Given the description of an element on the screen output the (x, y) to click on. 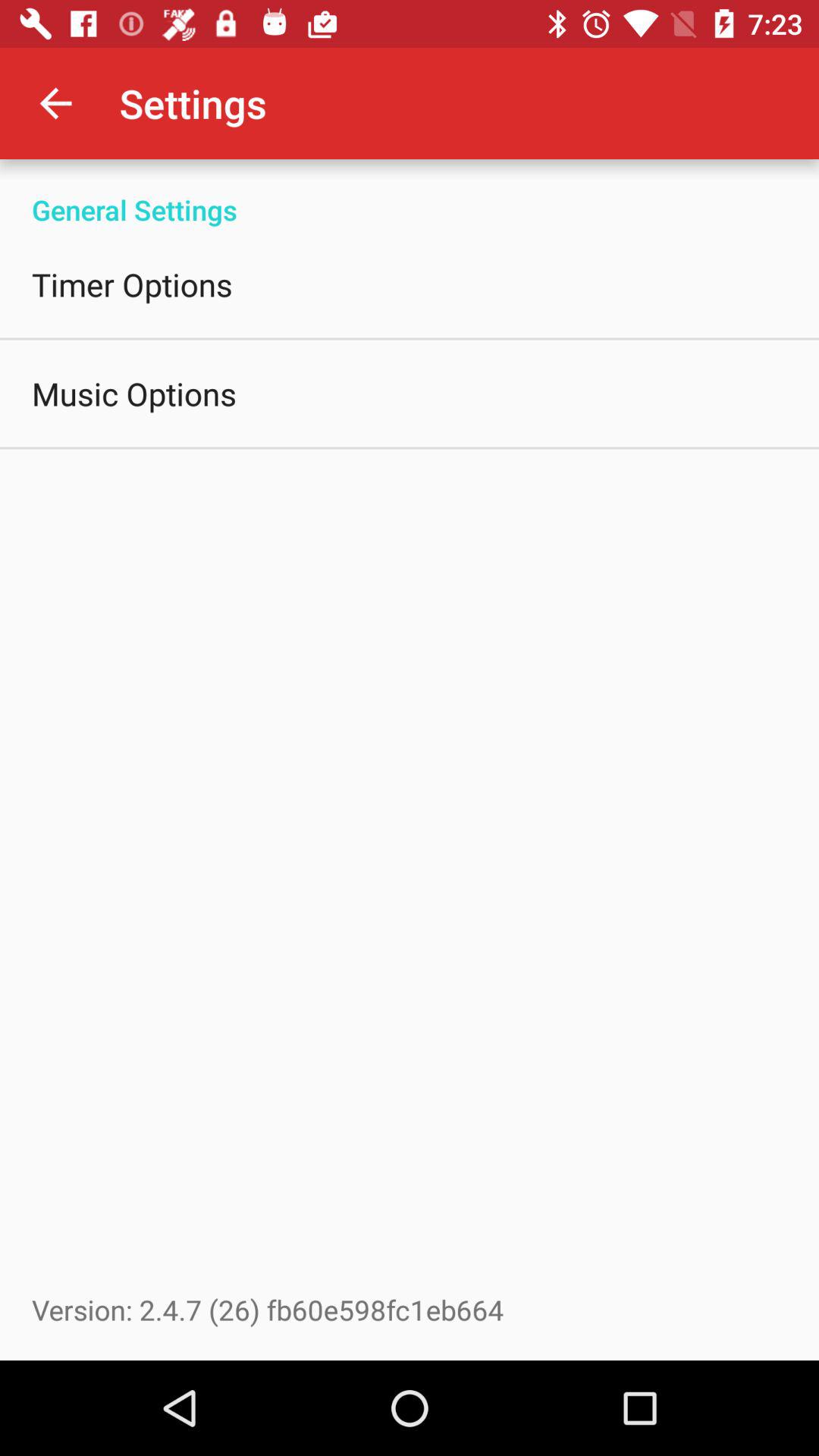
turn off the general settings icon (409, 193)
